Given the description of an element on the screen output the (x, y) to click on. 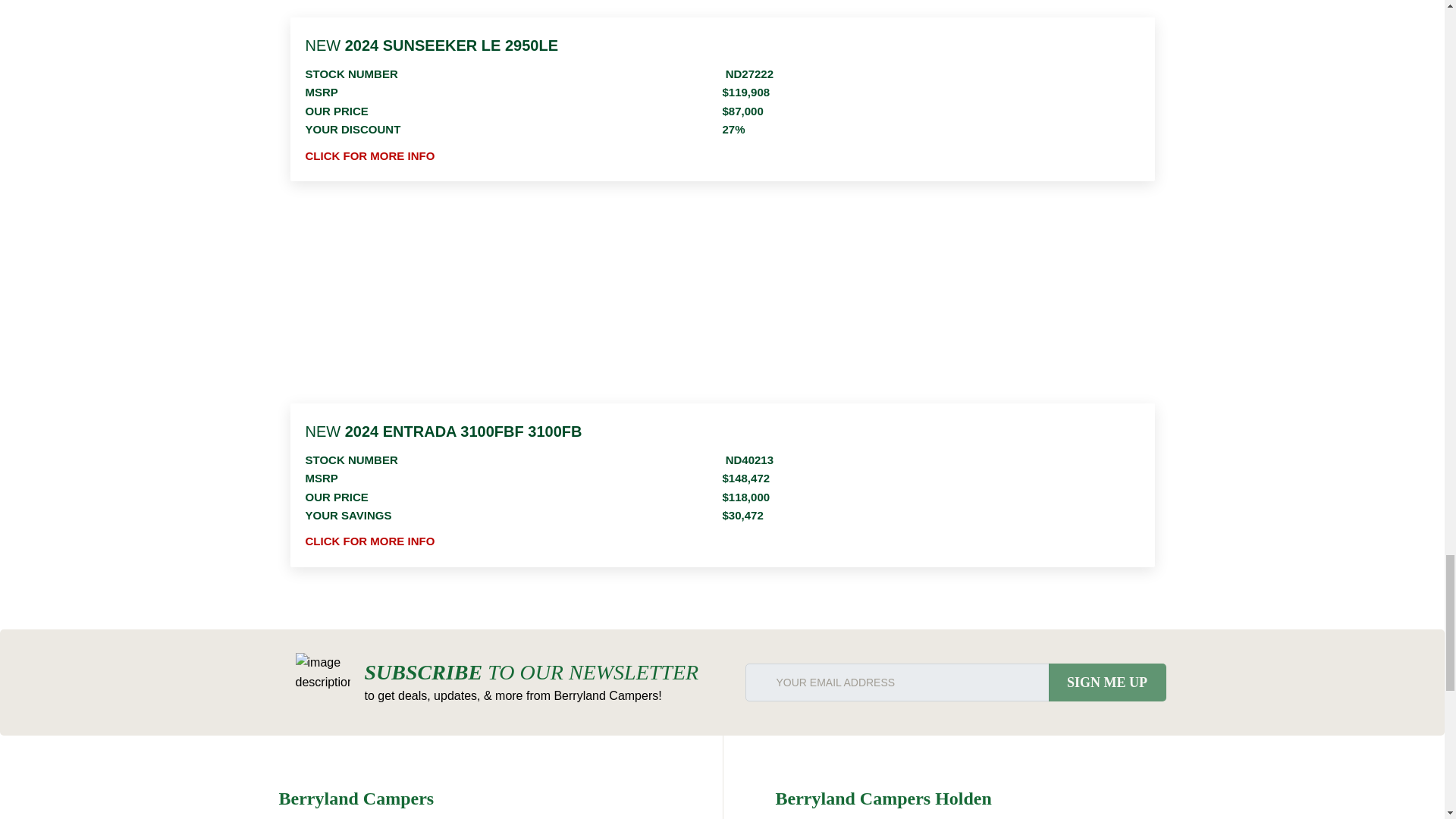
Save and Compare (1142, 239)
